Given the description of an element on the screen output the (x, y) to click on. 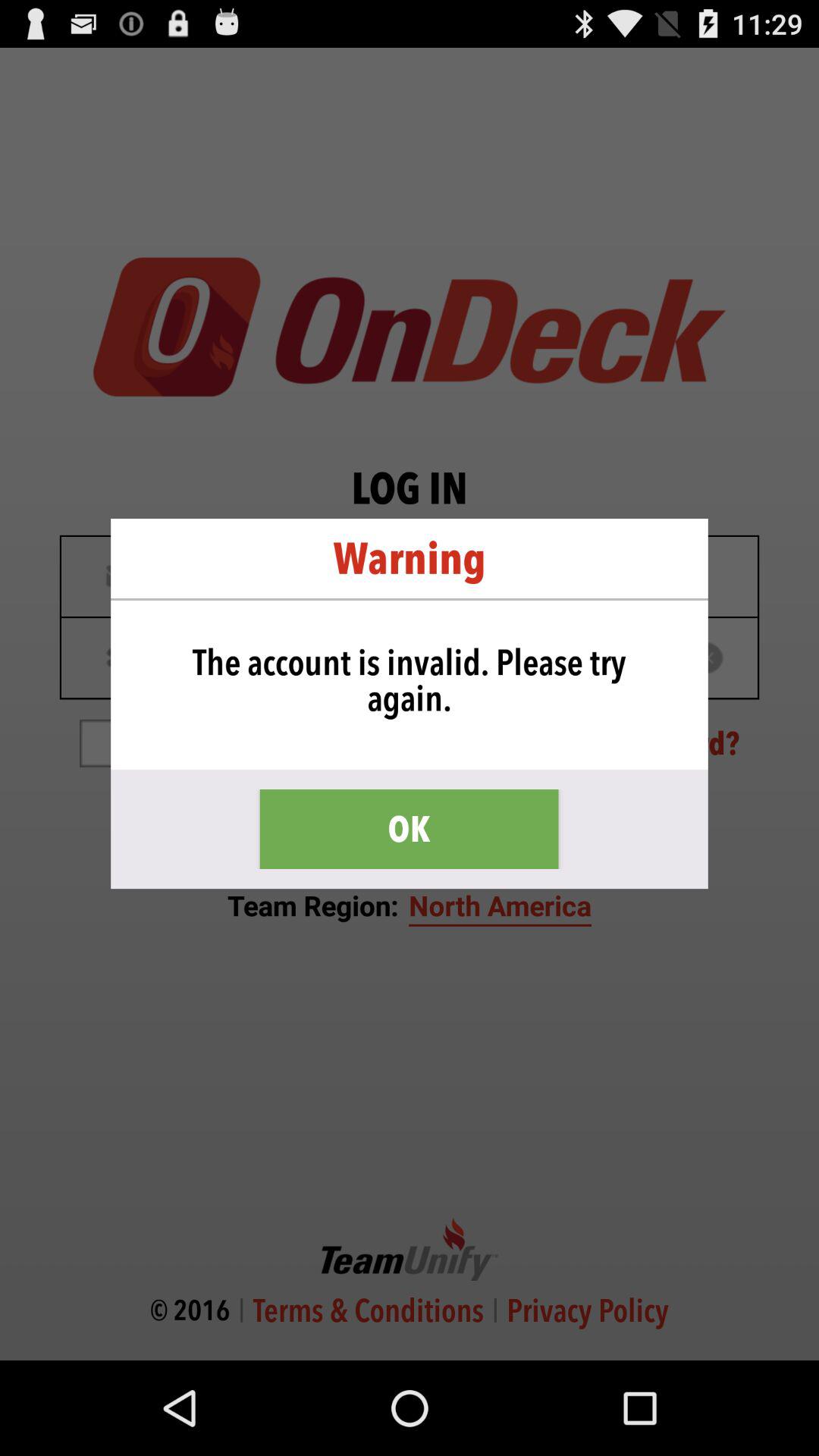
swipe to ok (408, 829)
